Given the description of an element on the screen output the (x, y) to click on. 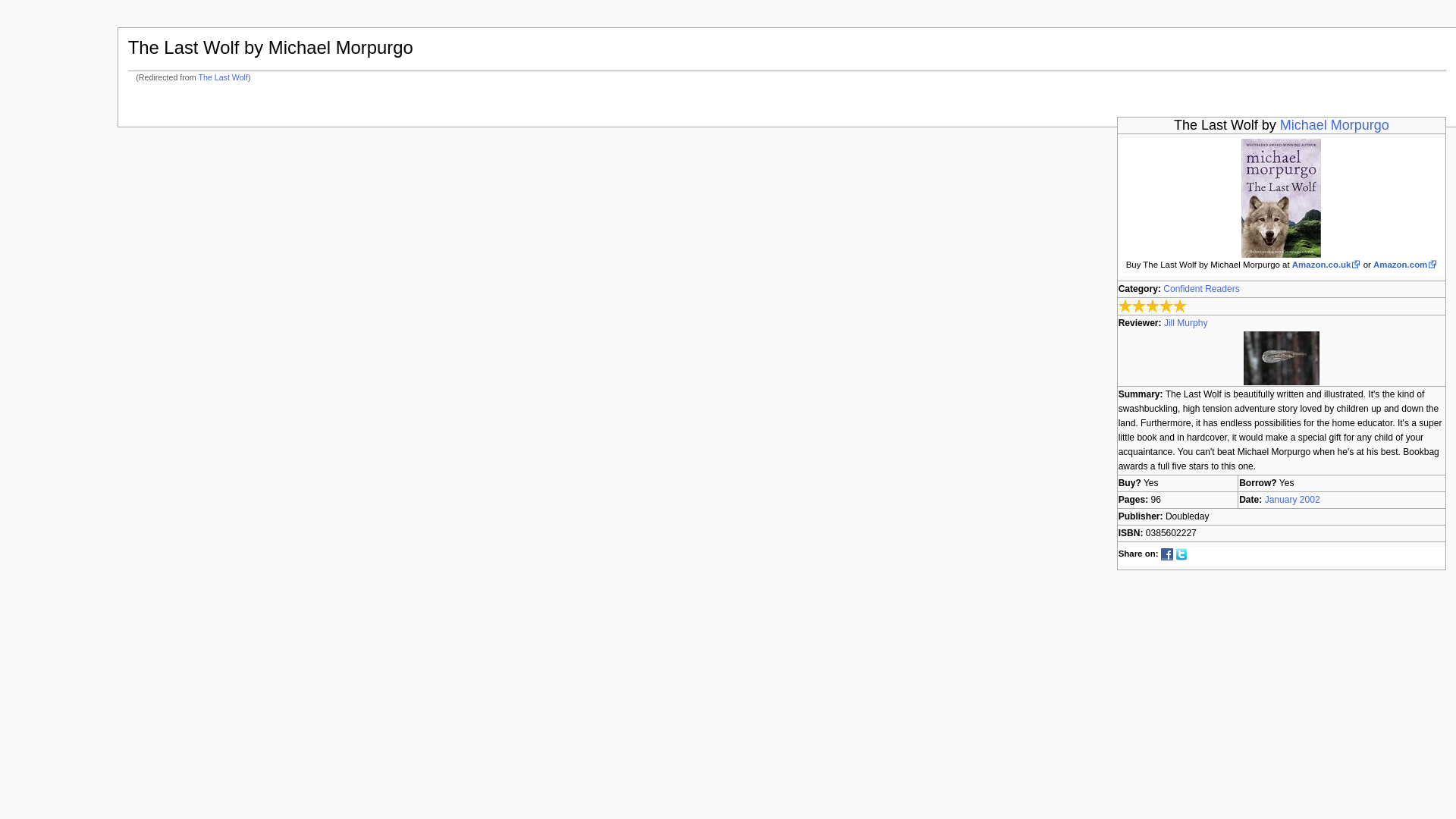
Reviewed by Jill Murphy (1281, 357)
Michael Morpurgo (1334, 124)
Category:Reviewed by Jill Murphy (1185, 322)
The Last Wolf (222, 76)
Amazon.com (1405, 264)
Amazon.co.uk (1326, 264)
January 2002 (1292, 499)
The Last Wolf (222, 76)
Confident Readers (1201, 288)
Jill Murphy (1185, 322)
Category:Michael Morpurgo (1334, 124)
Category:Confident Readers (1201, 288)
Category:January 2002 (1292, 499)
